Given the description of an element on the screen output the (x, y) to click on. 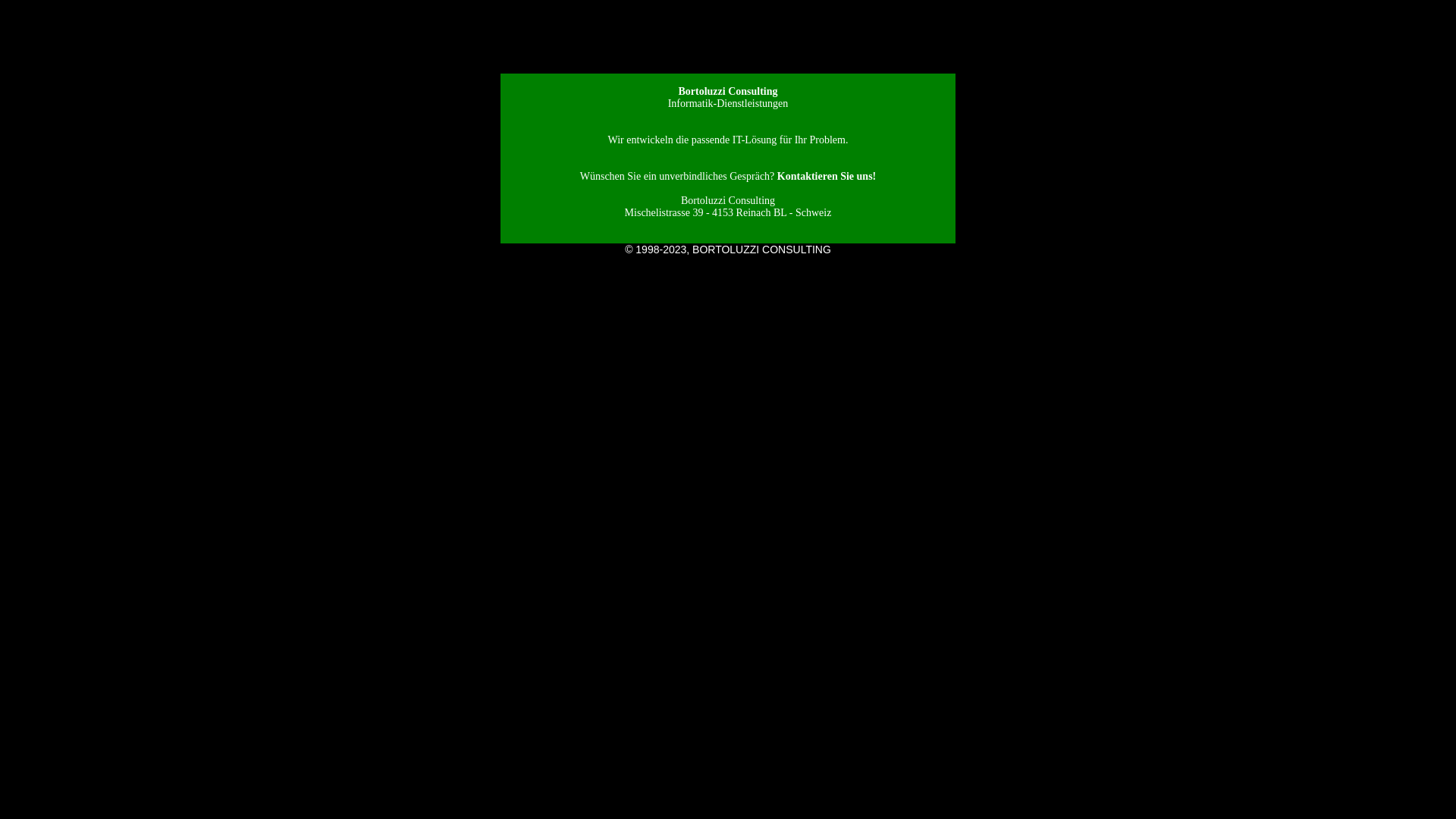
Kontaktieren Sie uns! Element type: text (826, 176)
